Given the description of an element on the screen output the (x, y) to click on. 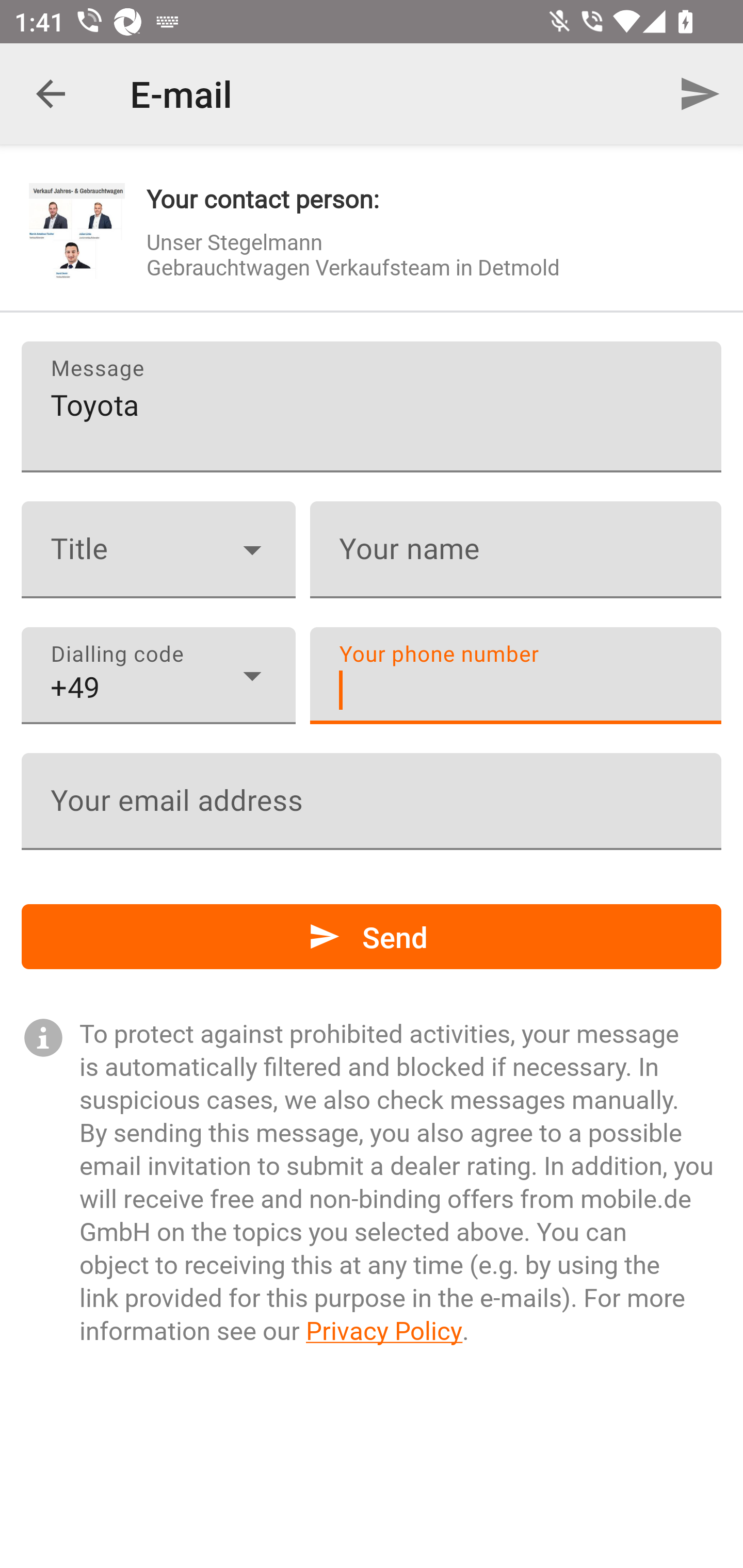
Navigate up (50, 93)
Send (699, 93)
Toyota
 (371, 406)
Title (158, 549)
Your name (515, 549)
Show dropdown menu (251, 549)
+49 (158, 675)
Your phone number (515, 675)
Show dropdown menu (251, 675)
Your email address (371, 800)
Send (371, 936)
